Given the description of an element on the screen output the (x, y) to click on. 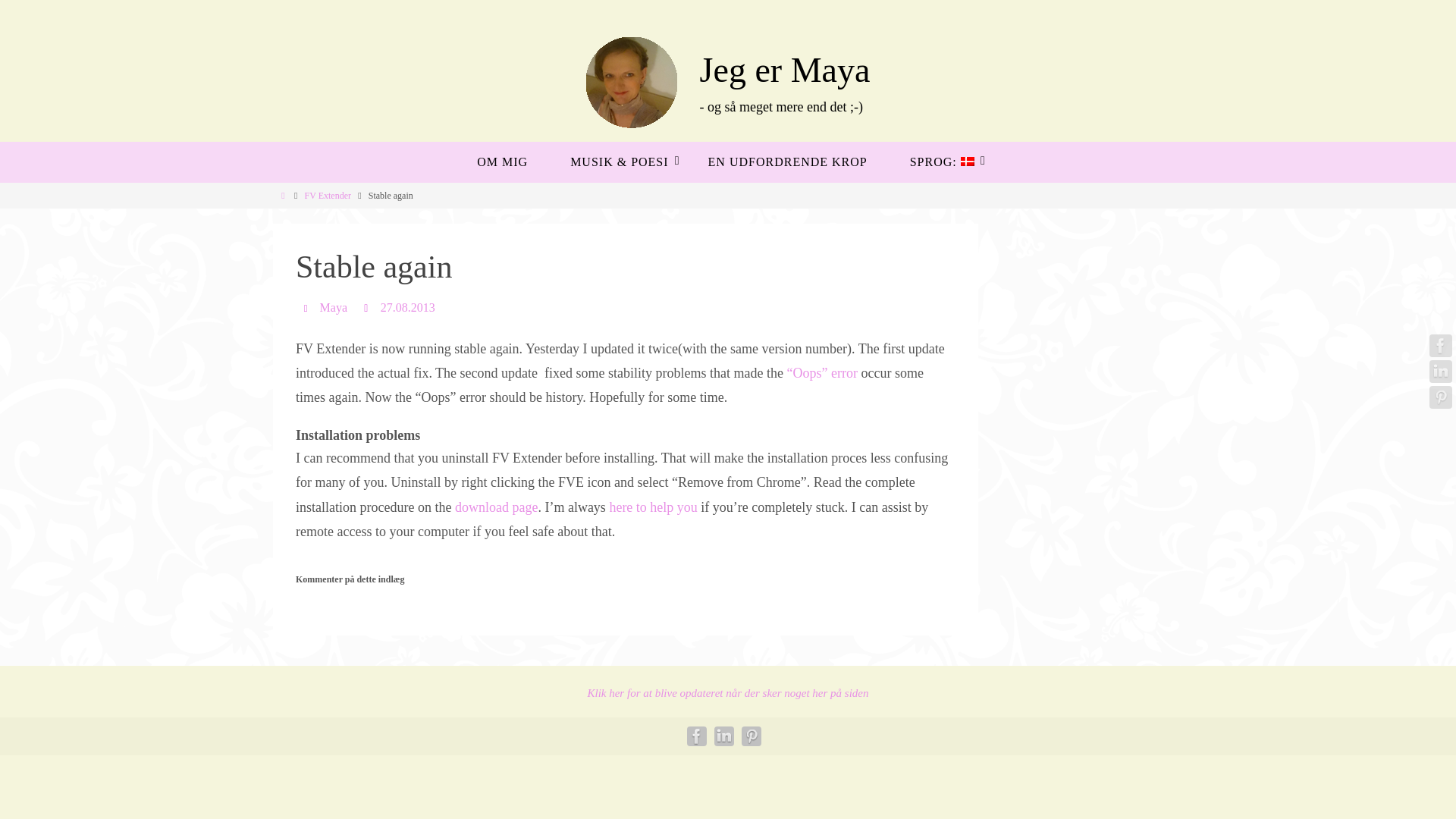
Download (495, 507)
Facebook (1440, 345)
LinkedIn (1440, 371)
27.08.2013 (407, 307)
Author  (307, 307)
Pinterest (1440, 396)
Dansk (940, 161)
Maya (333, 307)
View all posts by Maya (333, 307)
SPROG:  (940, 161)
download page (495, 507)
Date (367, 307)
here to help you (652, 507)
EN UDFORDRENDE KROP (787, 161)
FV Extender (327, 195)
